Given the description of an element on the screen output the (x, y) to click on. 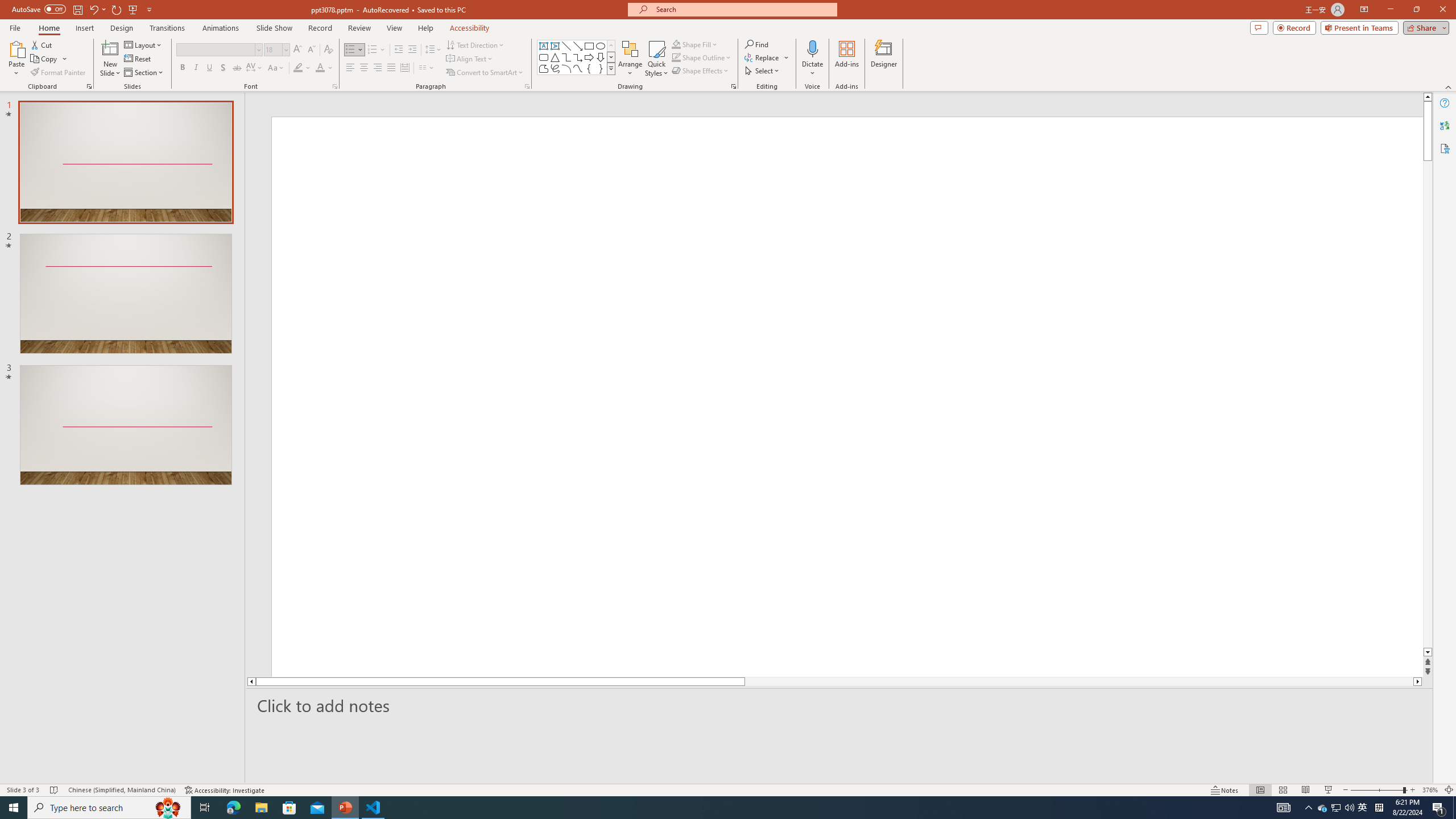
Shape Outline Green, Accent 1 (675, 56)
Shape Fill Dark Green, Accent 2 (675, 44)
